Given the description of an element on the screen output the (x, y) to click on. 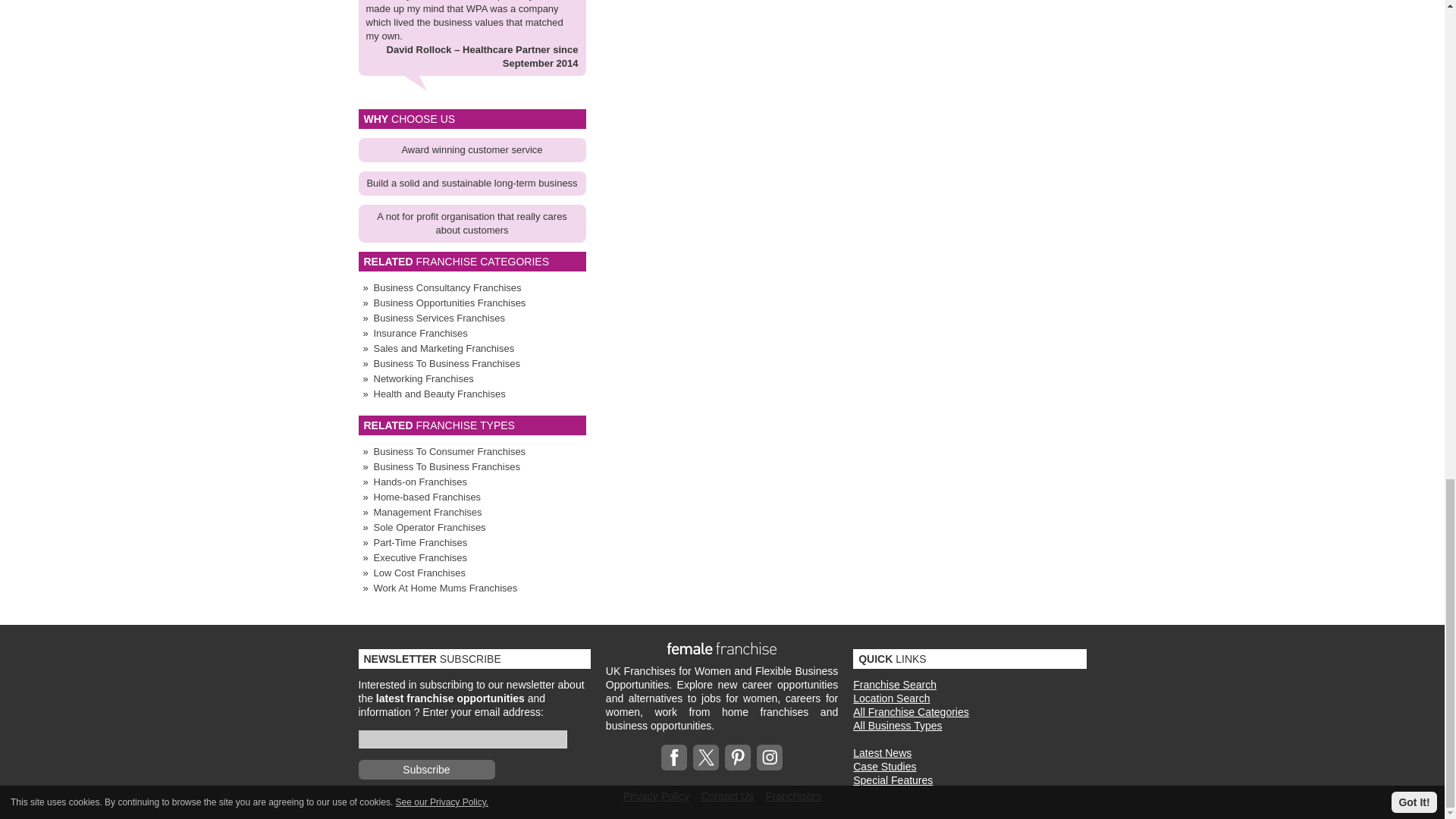
Subscribe (426, 769)
Franchisors (793, 796)
Privacy Policy (655, 796)
Contact Us (727, 796)
